Given the description of an element on the screen output the (x, y) to click on. 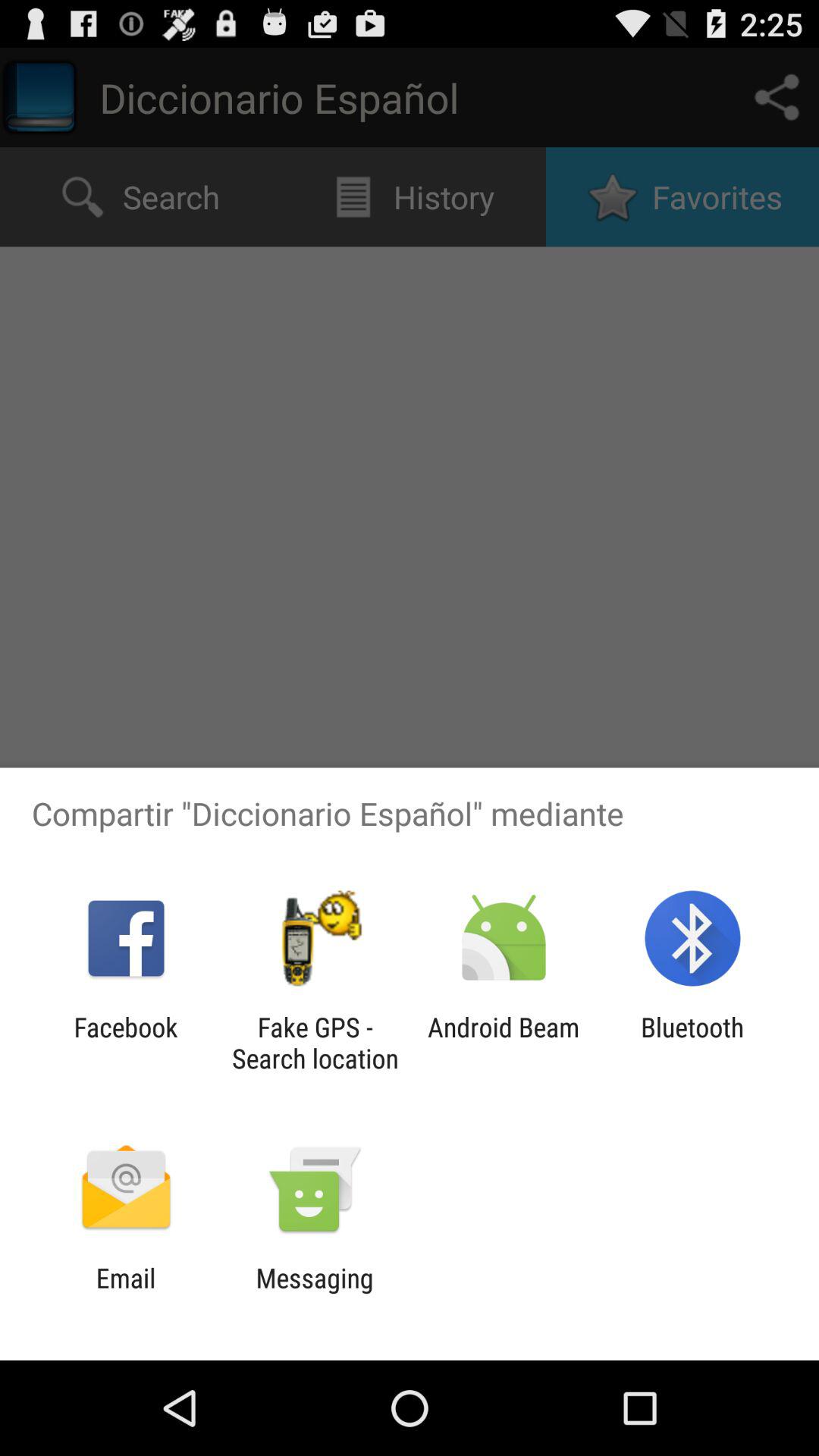
press item next to messaging app (125, 1293)
